Given the description of an element on the screen output the (x, y) to click on. 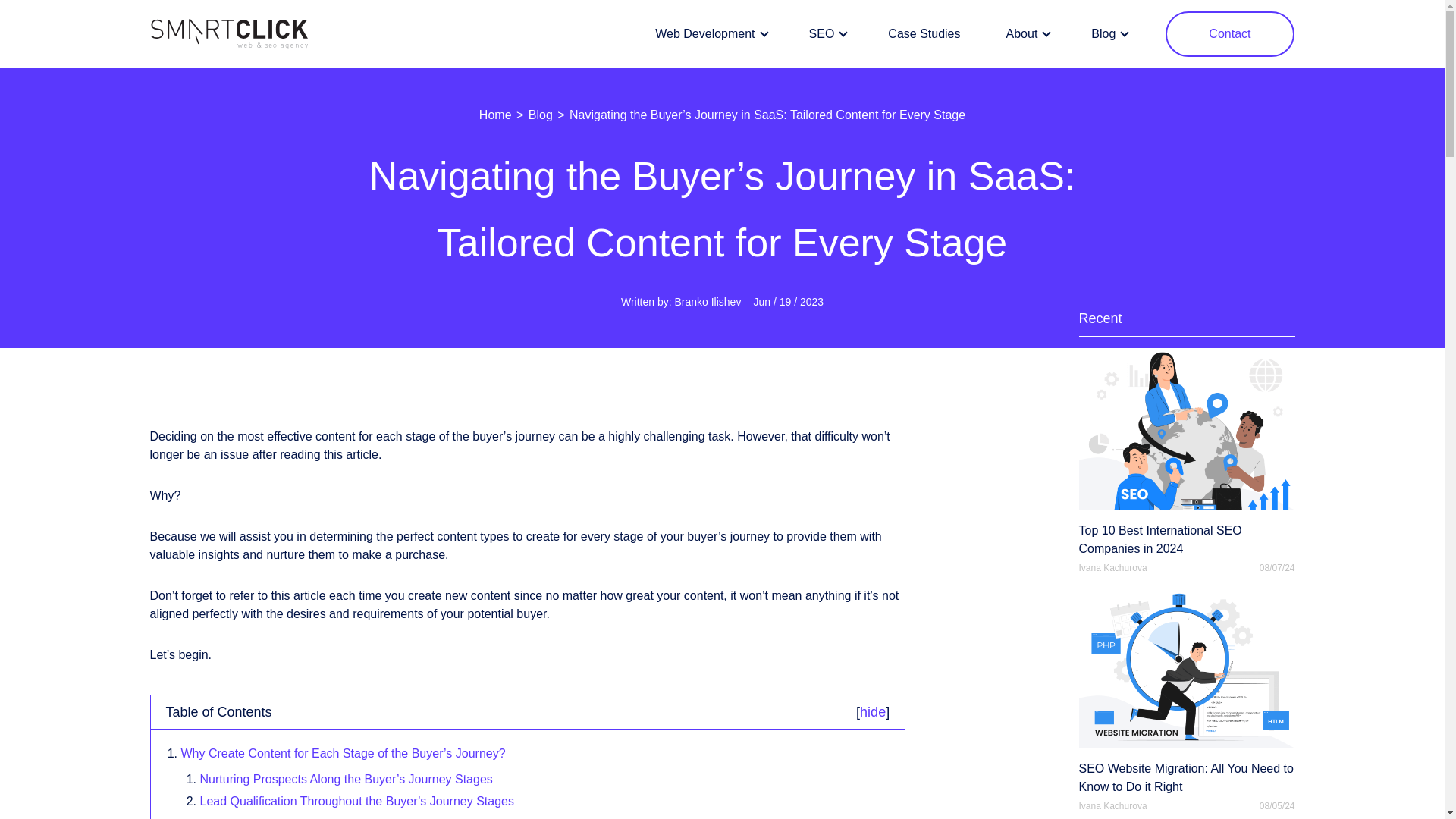
Blog (1106, 34)
SEO Website Migration: All You Need to Know to Do it Right (1186, 691)
Top 10 Best International SEO Companies in 2024 (1186, 452)
hide (872, 711)
Web Development (708, 34)
Case Studies (923, 34)
SEO (826, 34)
SEO (826, 34)
About (1026, 34)
About (1026, 34)
Case Studies (923, 34)
Blog (540, 114)
Contact (1230, 33)
Web Development (708, 34)
Home (495, 114)
